Given the description of an element on the screen output the (x, y) to click on. 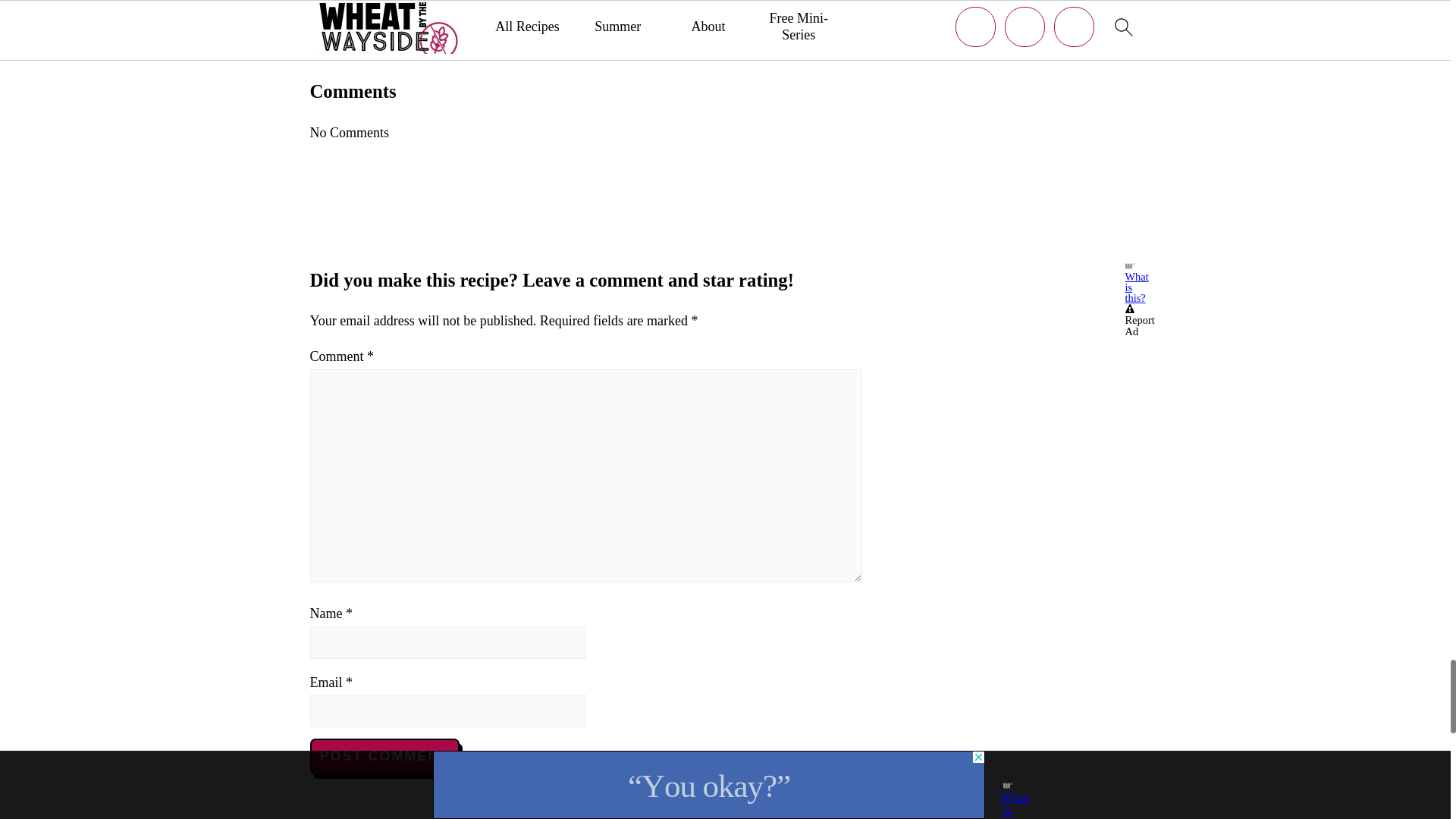
Post Comment (383, 755)
